Given the description of an element on the screen output the (x, y) to click on. 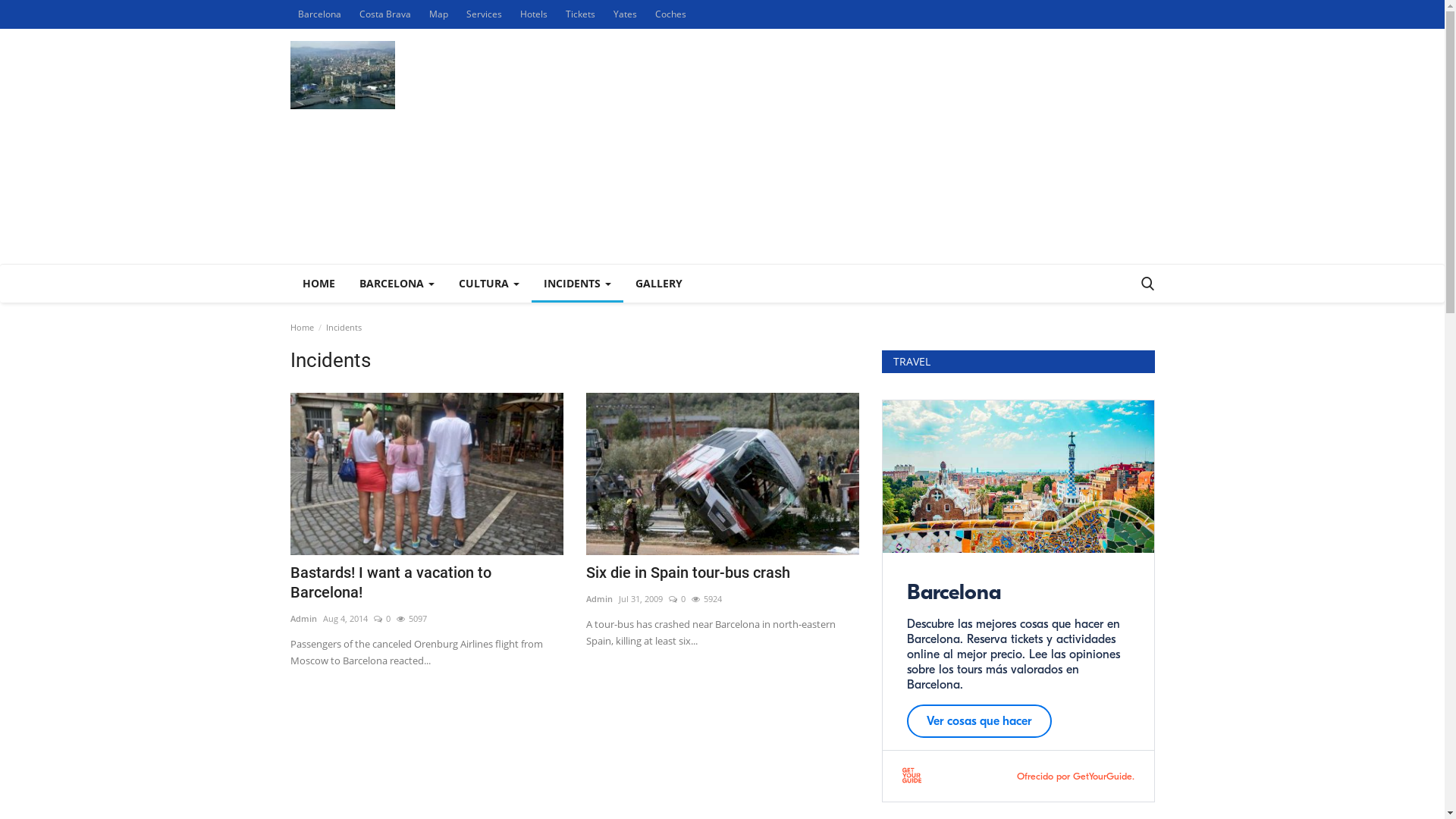
GALLERY Element type: text (658, 283)
Map Element type: text (438, 14)
HOME Element type: text (317, 283)
Home Element type: text (301, 326)
Advertisement Element type: hover (878, 146)
Barcelona Element type: text (318, 14)
Services Element type: text (483, 14)
Six die in Spain tour-bus crash Element type: text (721, 572)
Coches Element type: text (670, 14)
GetYourGuide Widget Element type: hover (1017, 600)
BARCELONA Element type: text (396, 283)
Tickets Element type: text (580, 14)
Hotels Element type: text (533, 14)
Bastards! I want a vacation to Barcelona! Element type: text (425, 582)
Admin Element type: text (598, 598)
Yates Element type: text (624, 14)
Costa Brava Element type: text (384, 14)
CULTURA Element type: text (487, 283)
Admin Element type: text (302, 618)
INCIDENTS Element type: text (576, 283)
